Given the description of an element on the screen output the (x, y) to click on. 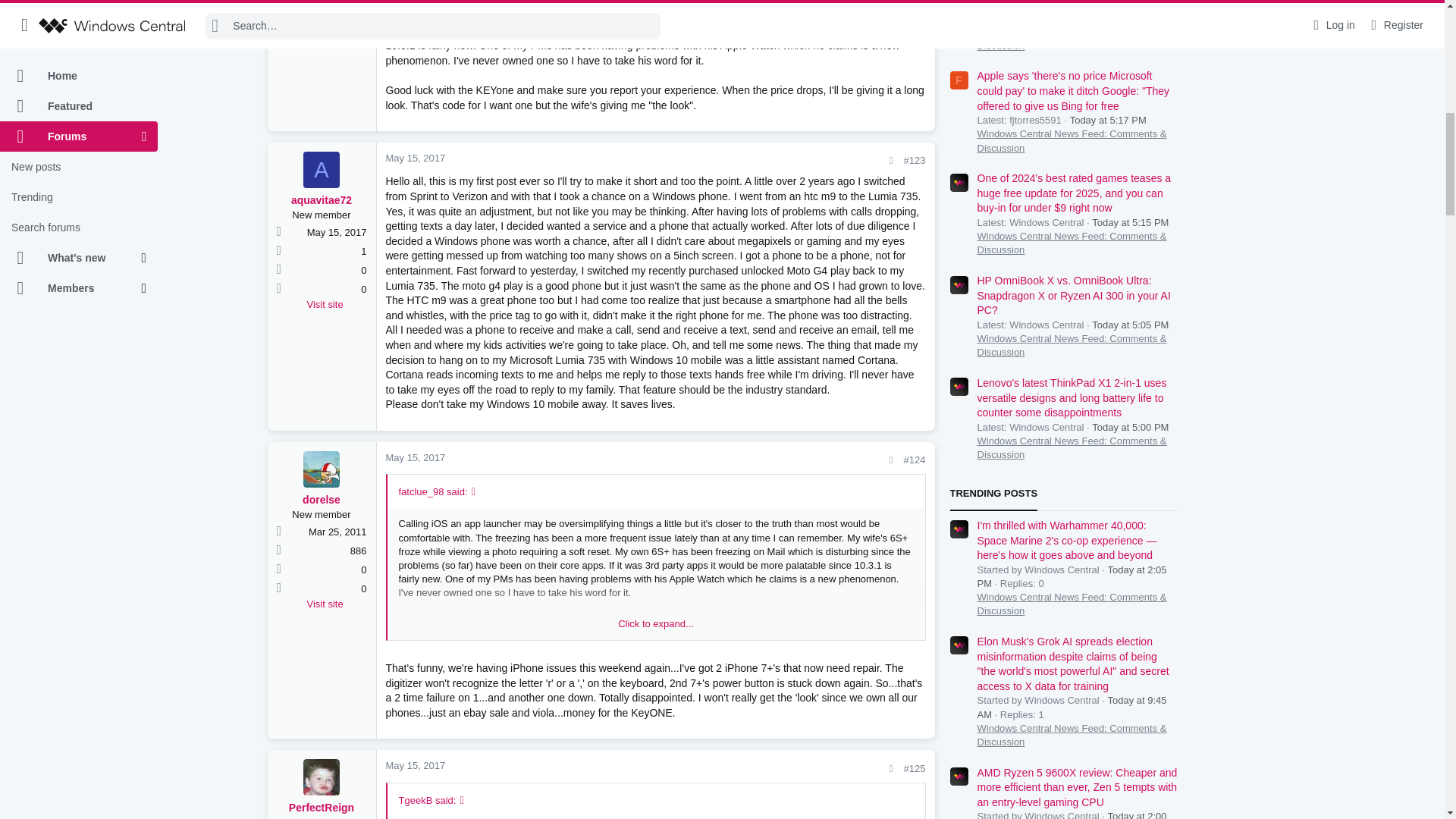
May 15, 2017 at 5:07 AM (415, 765)
May 15, 2017 at 3:35 AM (415, 157)
May 15, 2017 at 4:45 AM (415, 457)
